Given the description of an element on the screen output the (x, y) to click on. 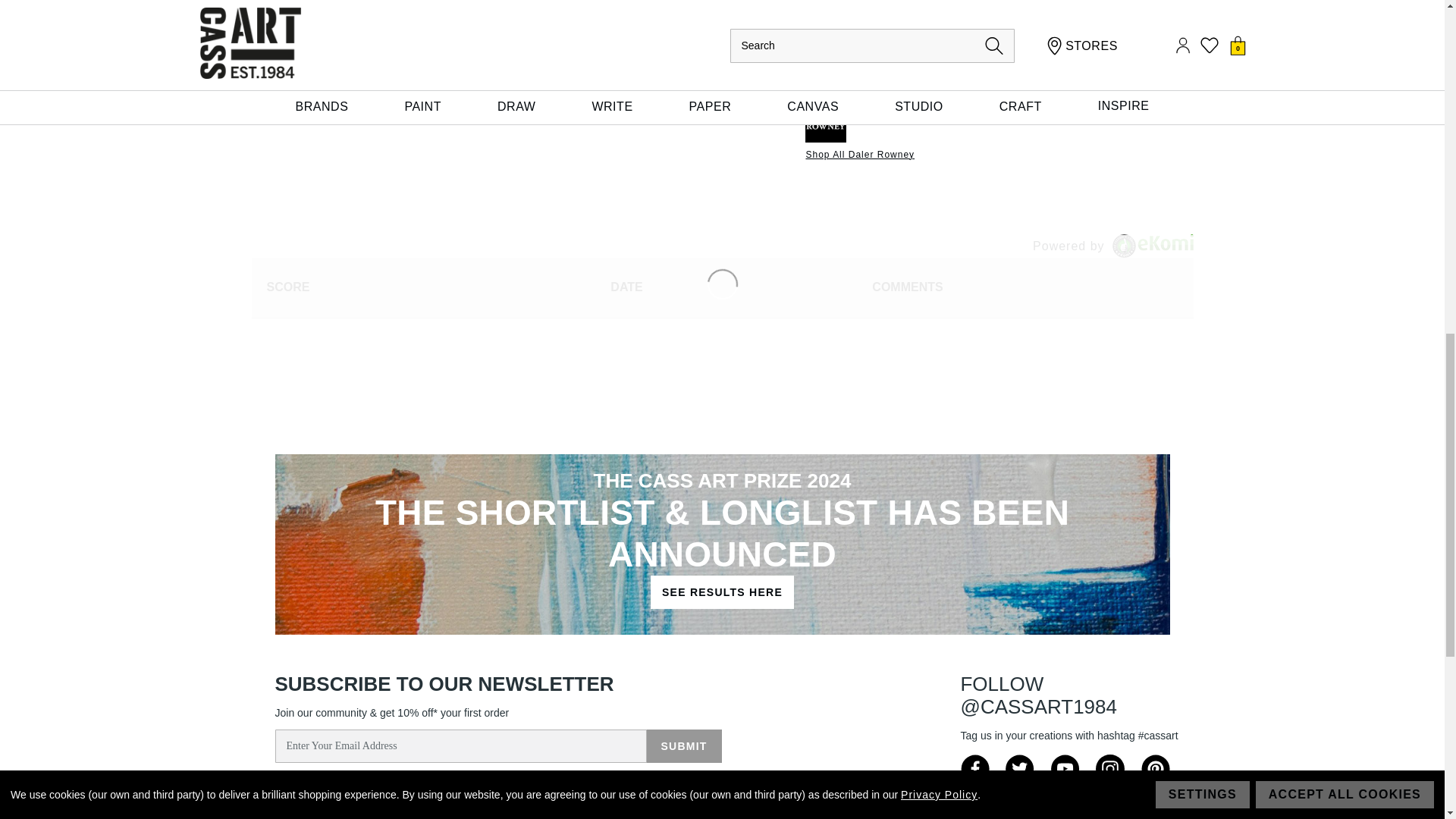
Facebook (868, 45)
Submit (683, 745)
Pinterest (895, 45)
Twitter (922, 45)
Print (975, 45)
Email (949, 45)
